Given the description of an element on the screen output the (x, y) to click on. 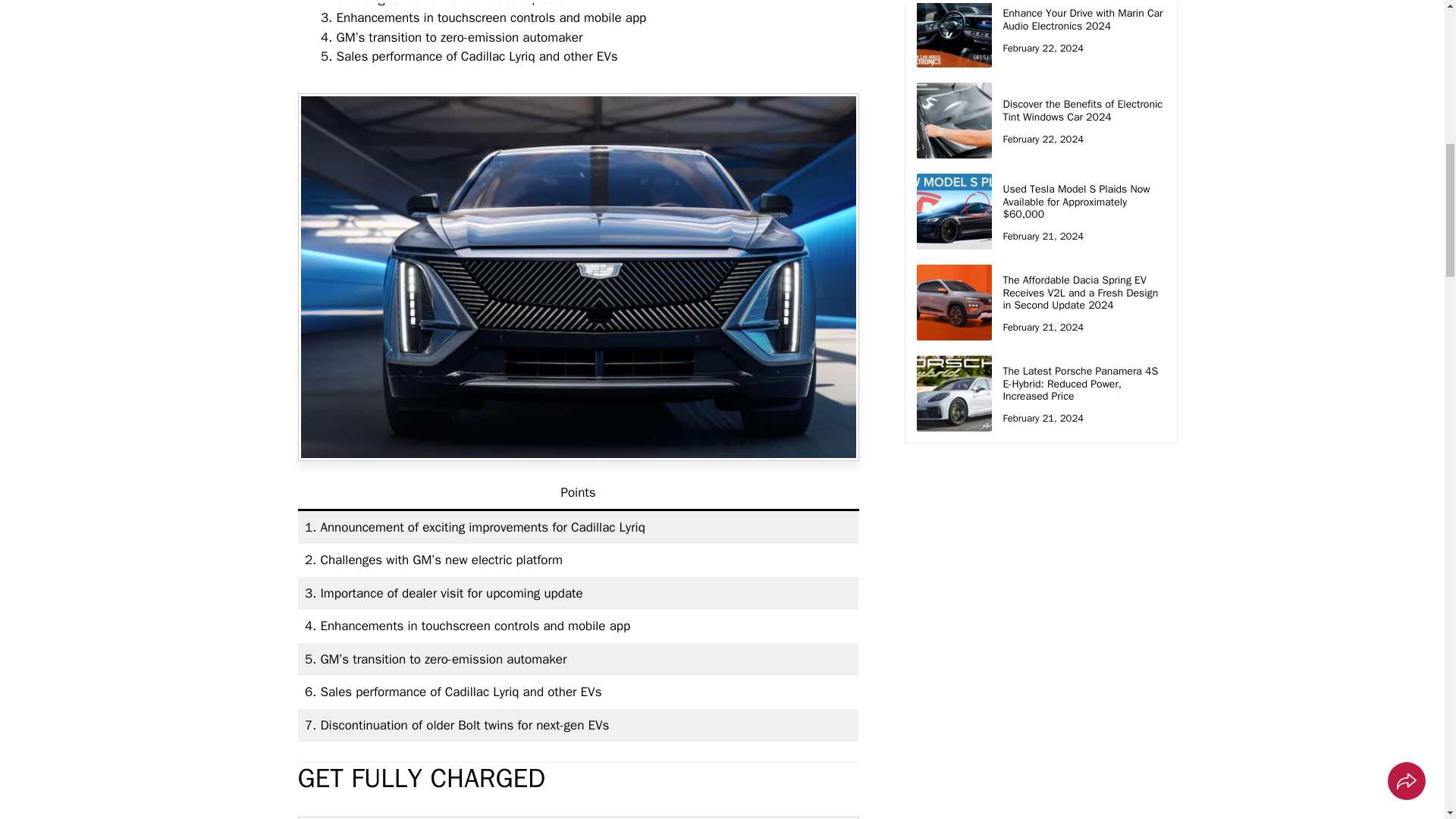
Discover the Benefits of Electronic Tint Windows Car 2024 (1082, 110)
Enhance Your Drive with Marin Car Audio Electronics 2024 (1082, 19)
